Given the description of an element on the screen output the (x, y) to click on. 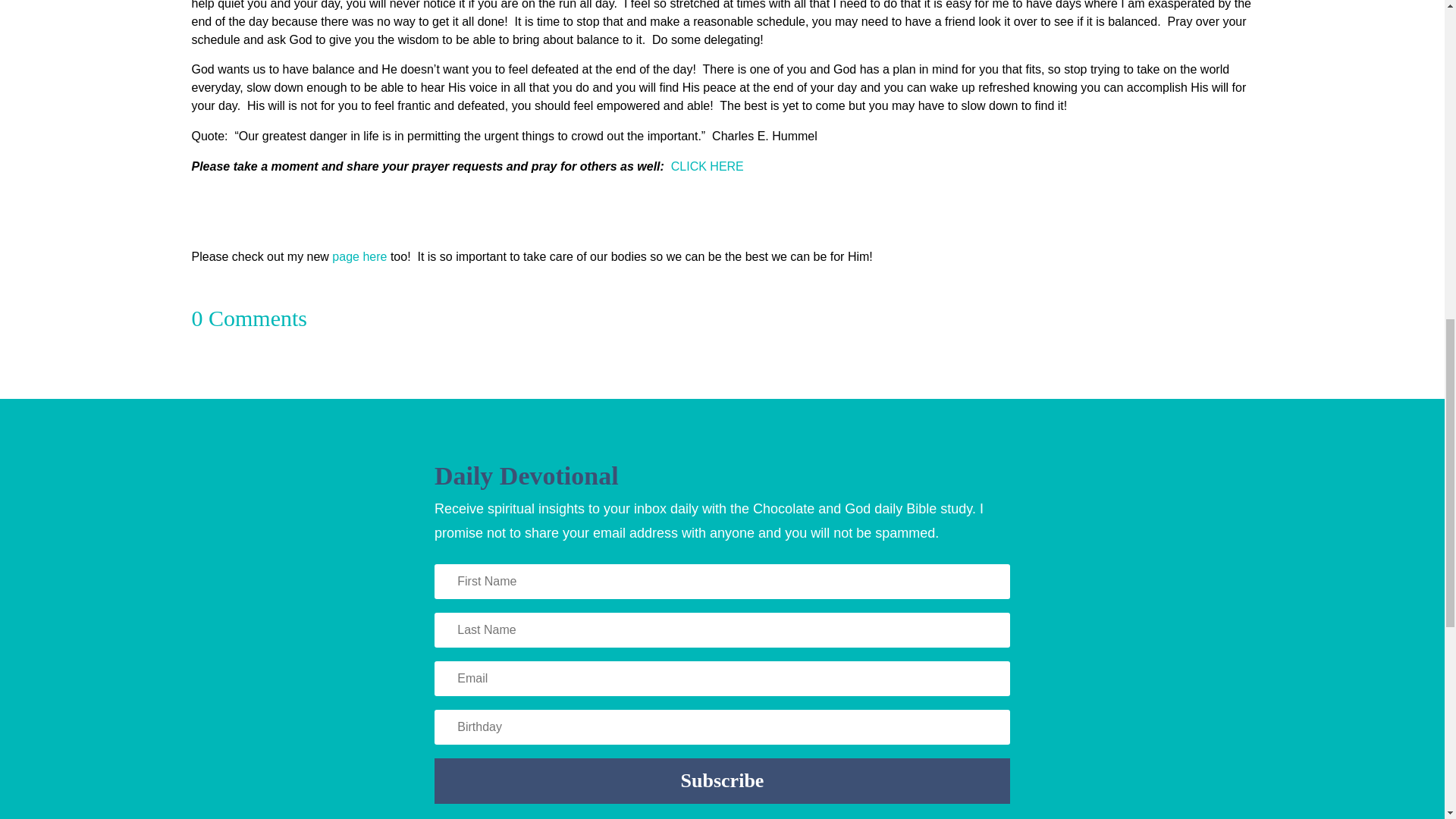
Subscribe (721, 780)
page here (358, 256)
CLICK HERE (707, 164)
